Given the description of an element on the screen output the (x, y) to click on. 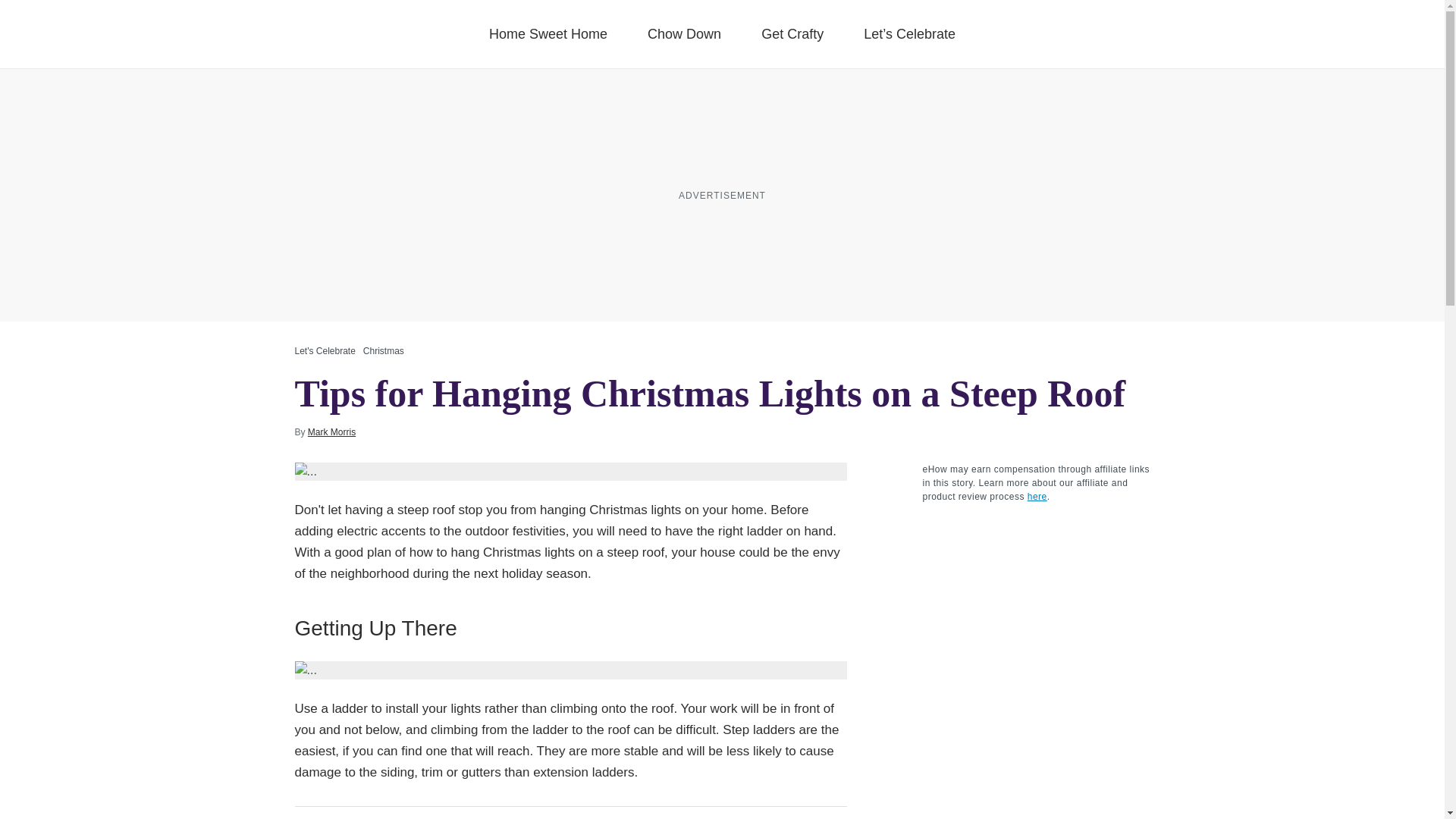
Learn more about our affiliate and product review process (1036, 496)
